Given the description of an element on the screen output the (x, y) to click on. 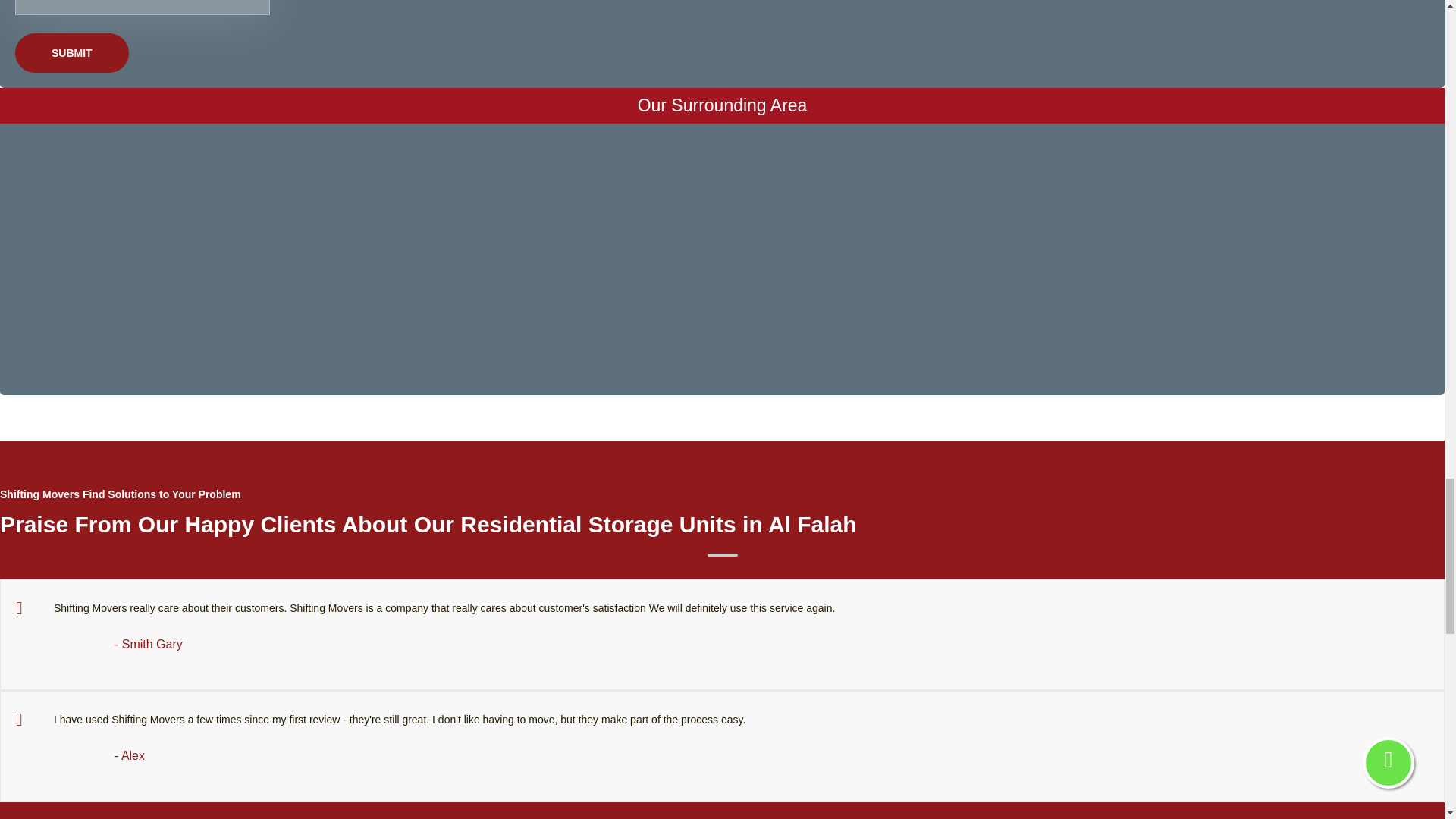
Submit (71, 52)
Submit (71, 52)
Email Field required (141, 7)
